Given the description of an element on the screen output the (x, y) to click on. 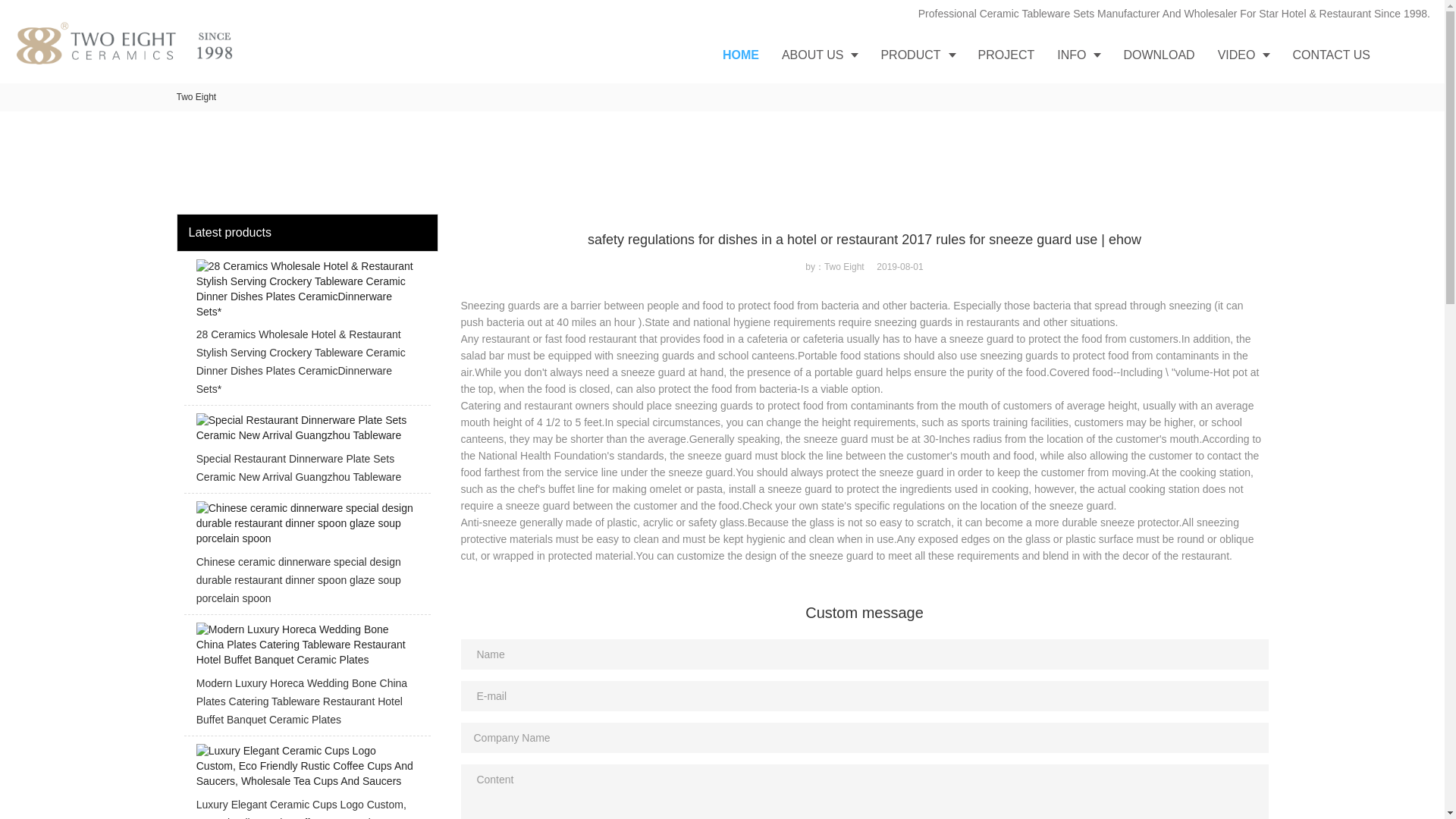
CONTACT US (1331, 55)
VIDEO (1244, 55)
ABOUT US (819, 55)
Two Eight (195, 96)
DOWNLOAD (1158, 55)
HOME (740, 55)
PROJECT (1006, 55)
INFO (1078, 55)
PRODUCT (917, 55)
